Given the description of an element on the screen output the (x, y) to click on. 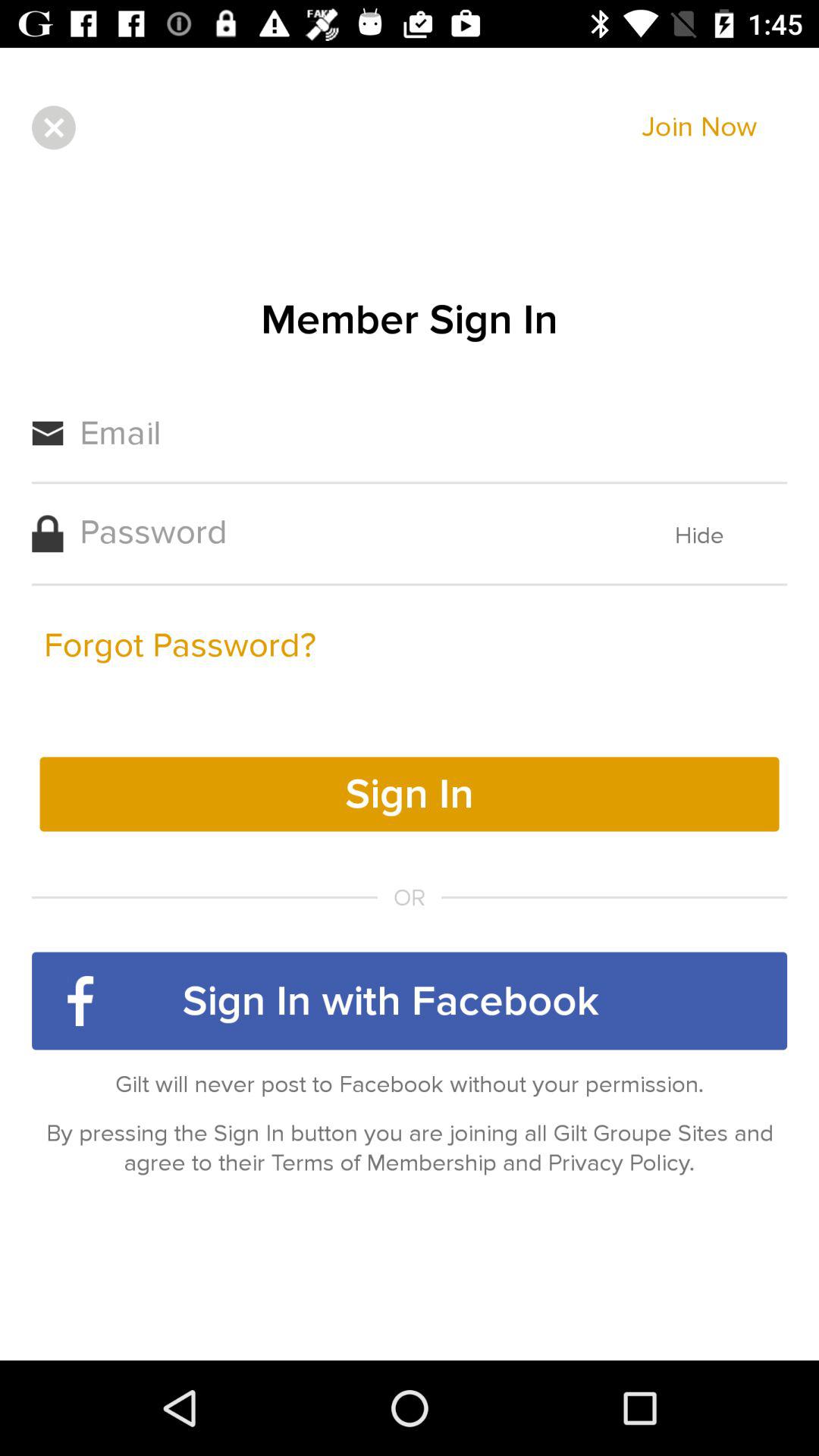
enter password (345, 532)
